Given the description of an element on the screen output the (x, y) to click on. 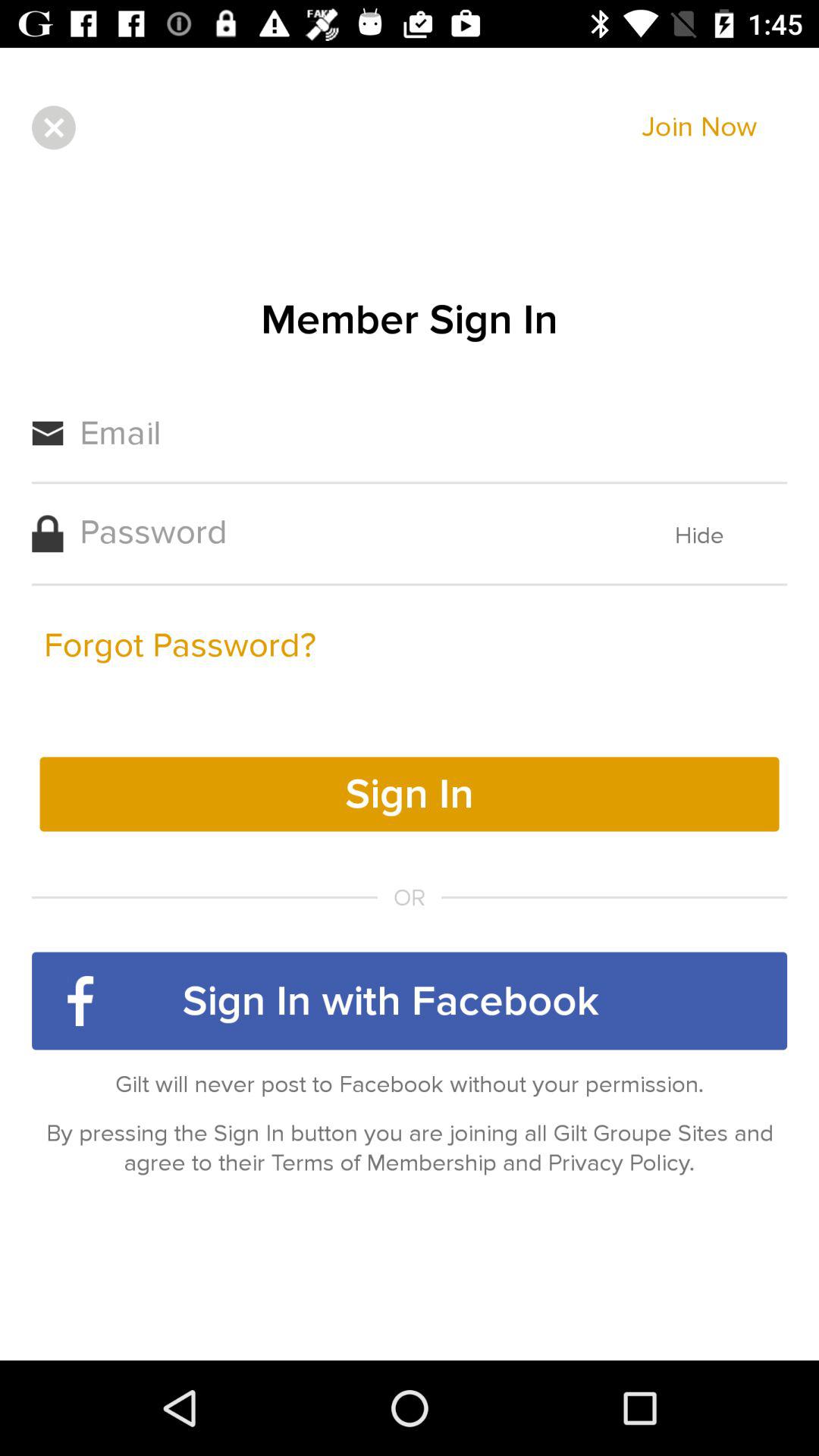
enter password (345, 532)
